Given the description of an element on the screen output the (x, y) to click on. 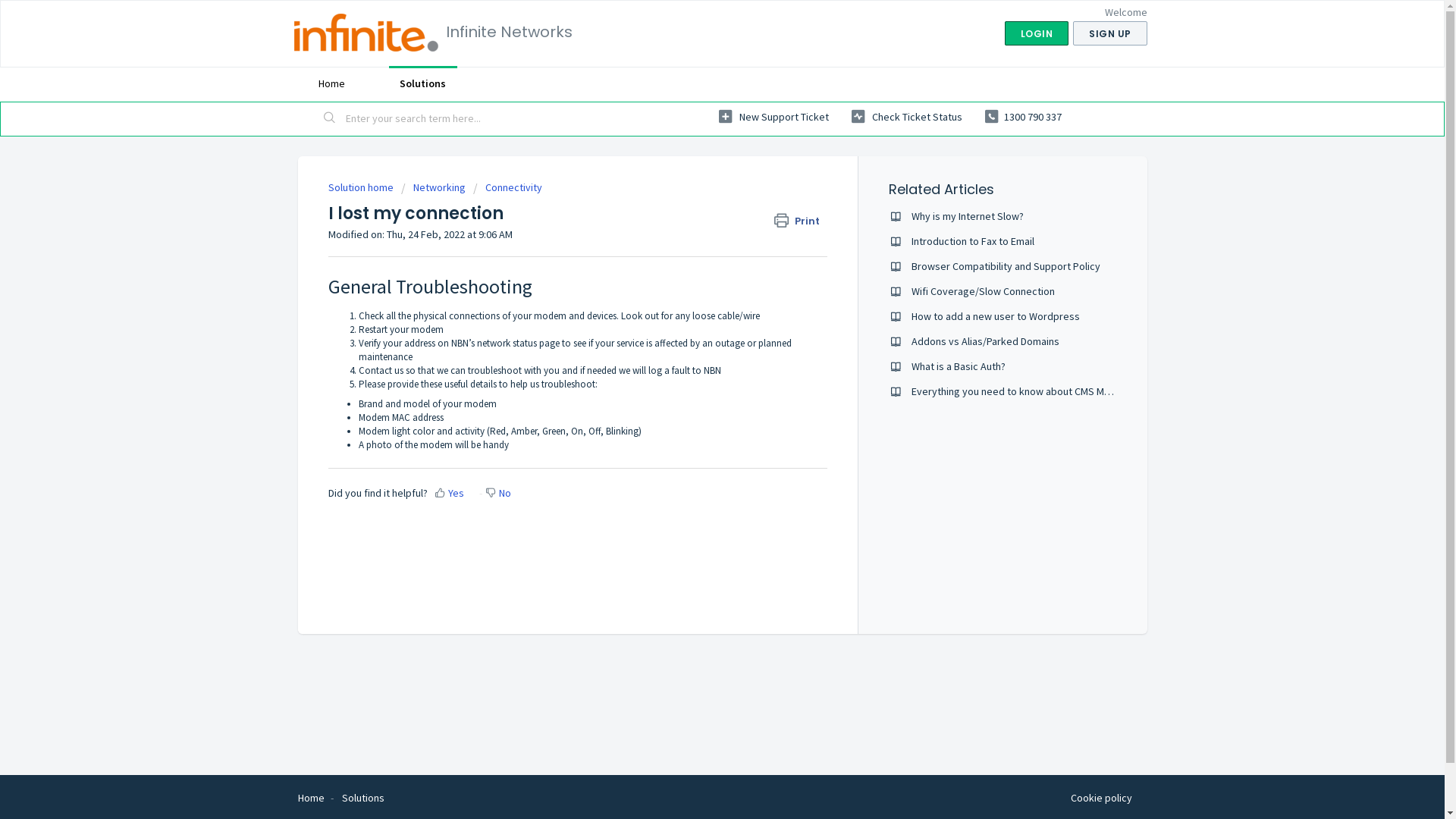
Browser Compatibility and Support Policy Element type: text (1005, 266)
Solutions Element type: text (362, 797)
Home Element type: text (310, 797)
How to add a new user to Wordpress Element type: text (995, 316)
Solution home Element type: text (361, 187)
Cookie policy Element type: text (1101, 798)
Addons vs Alias/Parked Domains Element type: text (985, 341)
network status page Element type: text (517, 342)
Networking Element type: text (432, 187)
Solutions Element type: text (422, 83)
New Support Ticket Element type: text (773, 116)
LOGIN Element type: text (1036, 33)
1300 790 337 Element type: text (1022, 116)
Wifi Coverage/Slow Connection Element type: text (982, 291)
What is a Basic Auth? Element type: text (958, 366)
Check Ticket Status Element type: text (905, 116)
Connectivity Element type: text (507, 187)
Print Element type: text (800, 221)
Everything you need to know about CMS Maintenance Package Element type: text (1053, 391)
Why is my Internet Slow? Element type: text (967, 215)
SIGN UP Element type: text (1110, 33)
Introduction to Fax to Email Element type: text (972, 240)
Home Element type: text (331, 83)
